Given the description of an element on the screen output the (x, y) to click on. 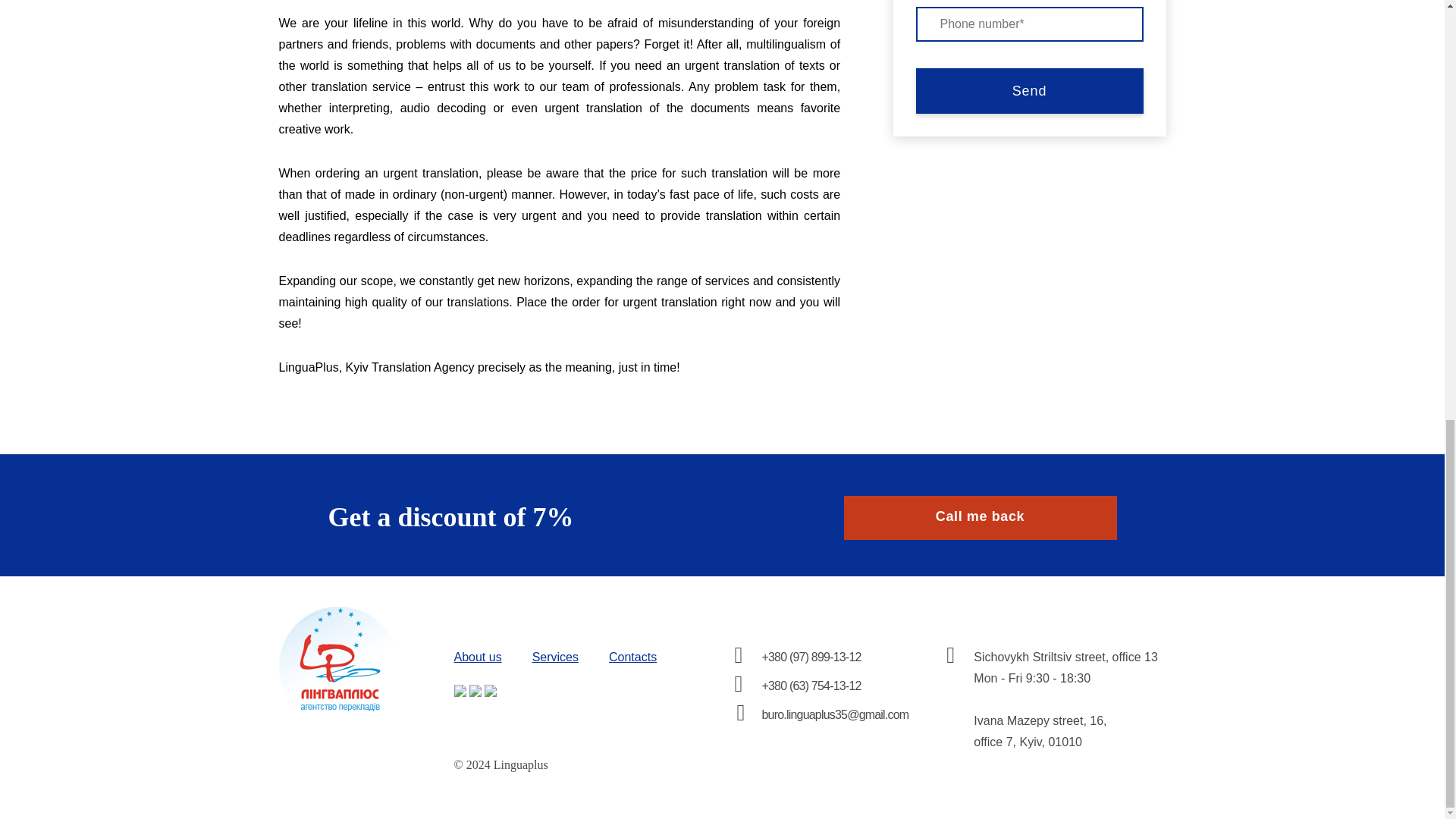
Contacts (632, 656)
Send (1028, 90)
Call me back (979, 517)
Services (555, 656)
Send (1028, 90)
About us (476, 656)
